Given the description of an element on the screen output the (x, y) to click on. 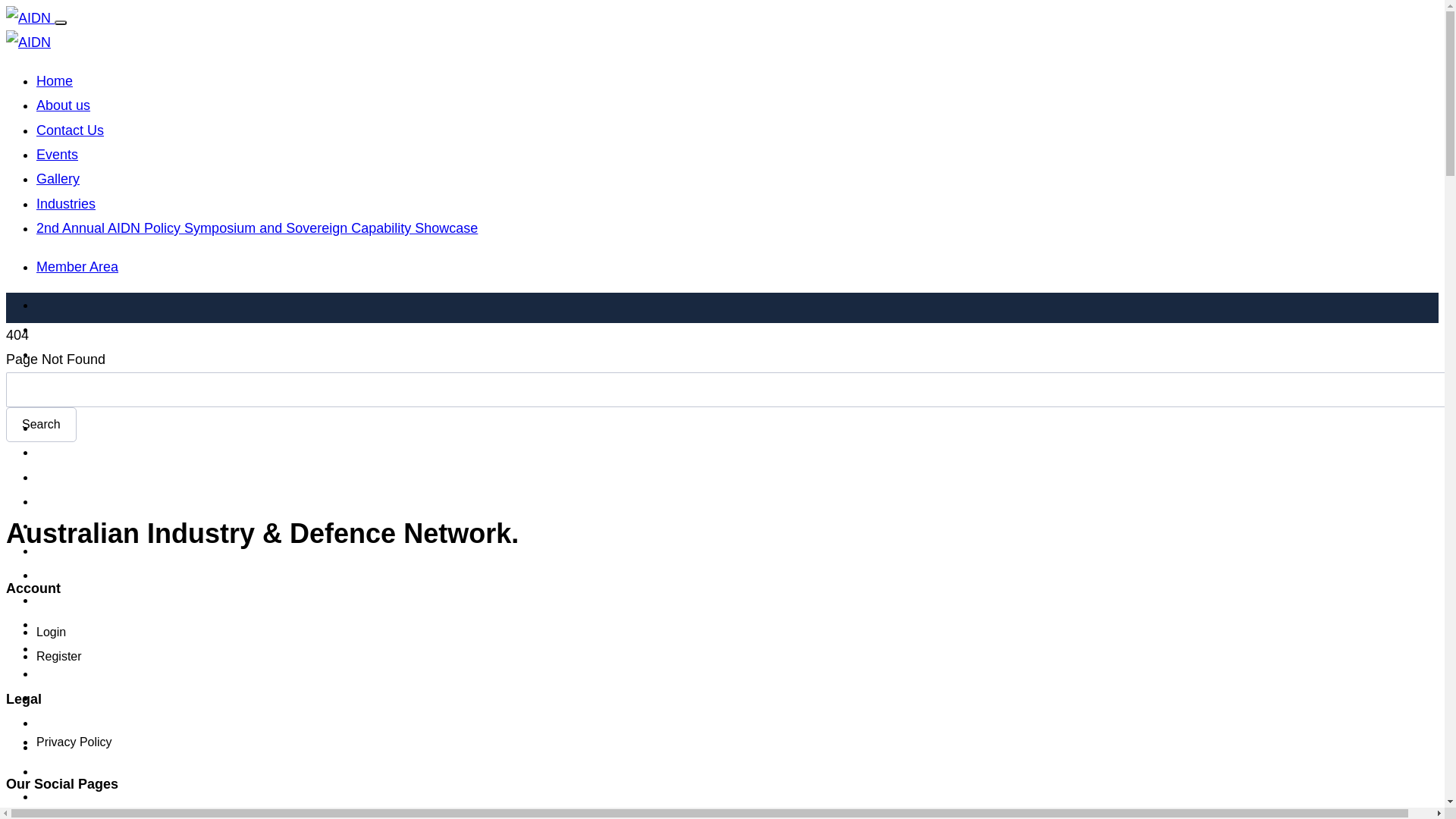
Events Element type: text (57, 154)
Search Element type: text (41, 424)
Contact Us Element type: text (69, 130)
Privacy Policy Element type: text (74, 741)
Login Element type: text (50, 631)
Industries Element type: text (65, 203)
Gallery Element type: text (57, 178)
Home Element type: text (54, 80)
Register Element type: text (58, 655)
About us Element type: text (63, 104)
Member Area Element type: text (77, 266)
